Given the description of an element on the screen output the (x, y) to click on. 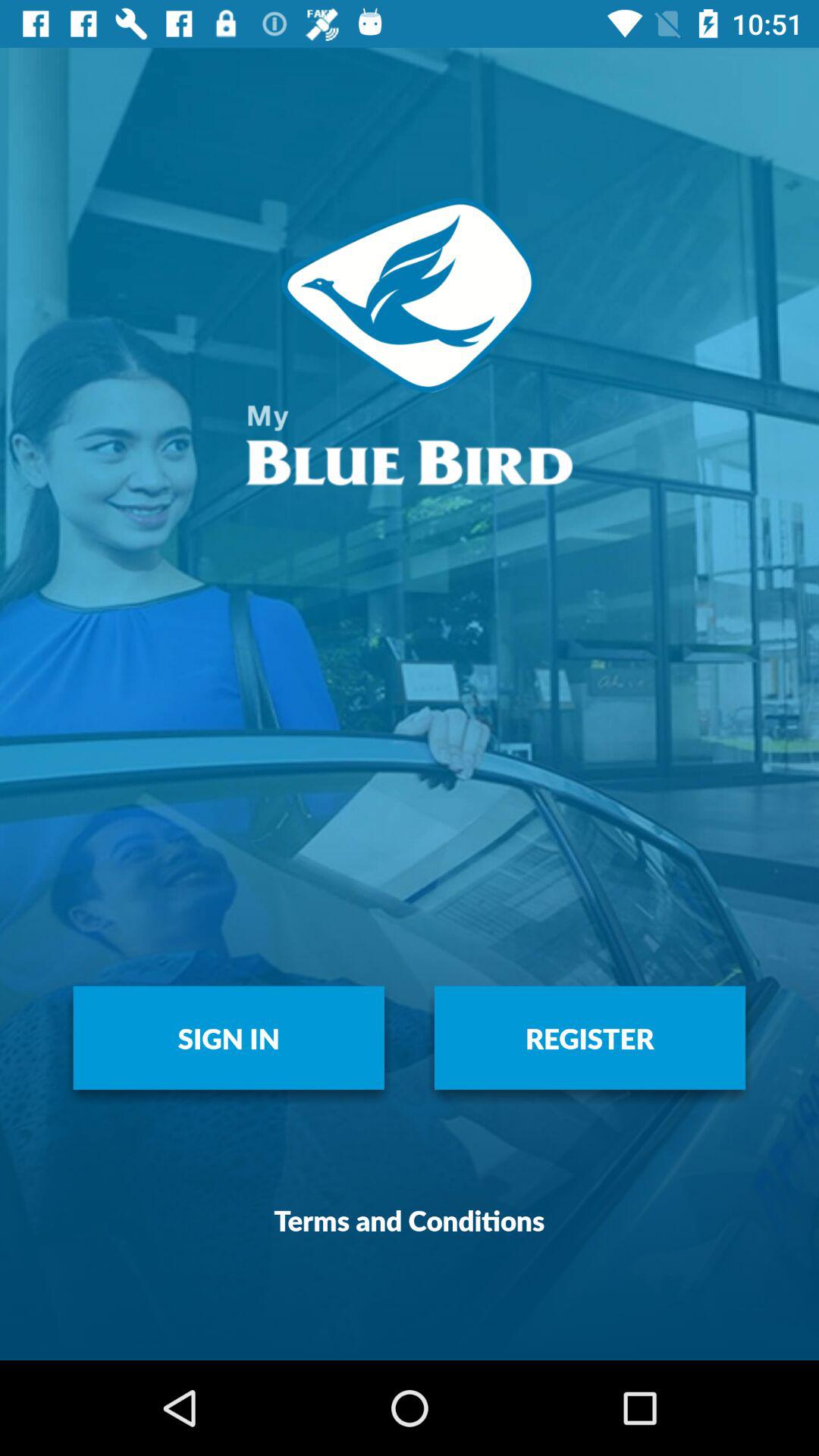
flip until register (589, 1037)
